Given the description of an element on the screen output the (x, y) to click on. 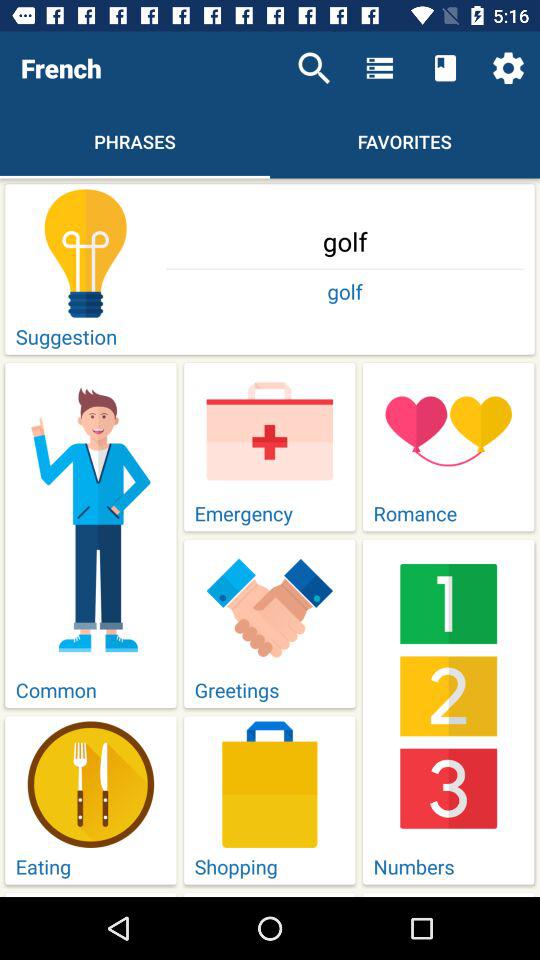
tap the icon above the favorites item (444, 67)
